Given the description of an element on the screen output the (x, y) to click on. 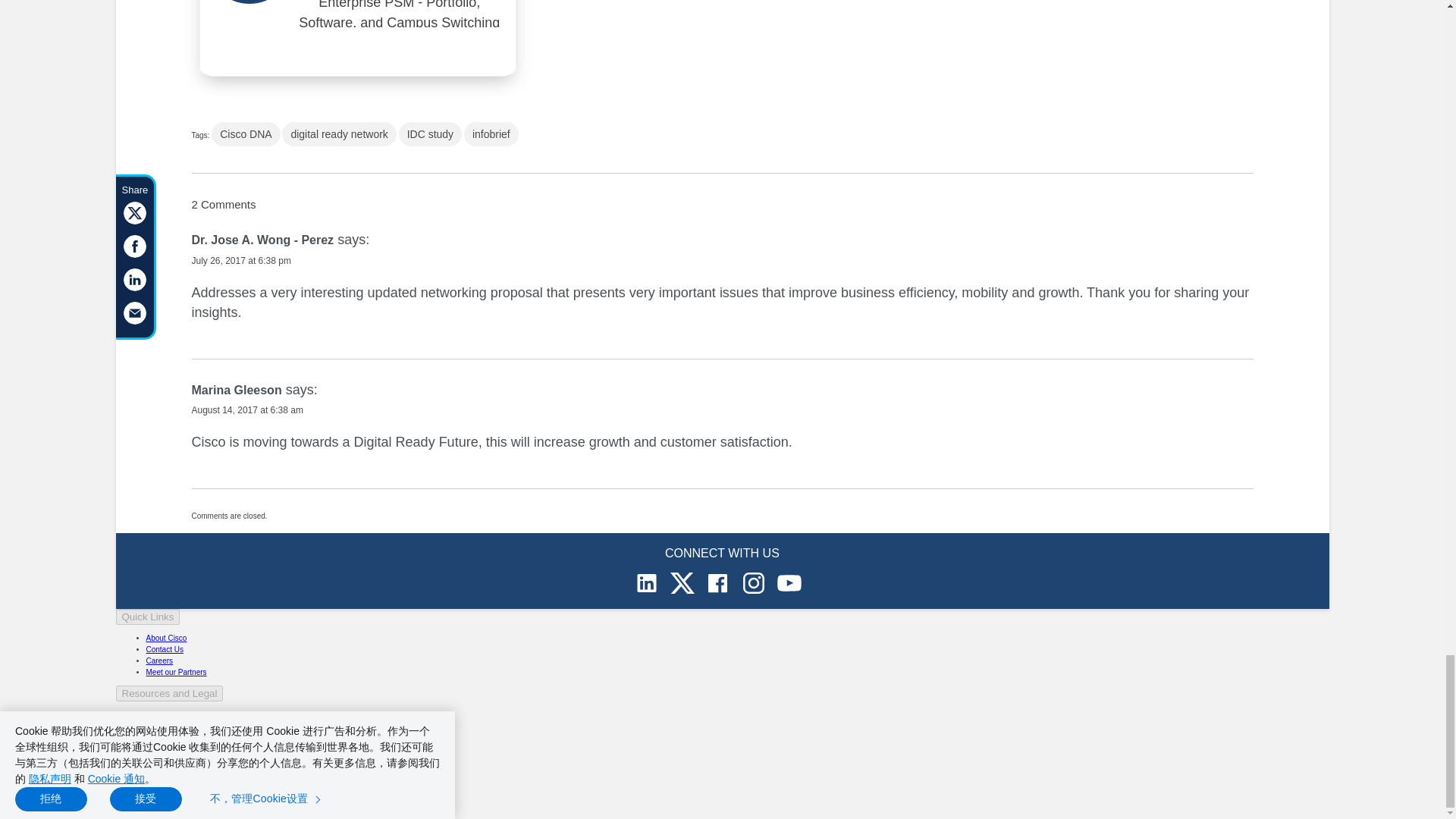
digital ready network (339, 134)
IDC study (429, 134)
infobrief (491, 134)
August 14, 2017 at 6:38 am (246, 409)
Cisco DNA (245, 134)
July 26, 2017 at 6:38 pm (239, 260)
